Given the description of an element on the screen output the (x, y) to click on. 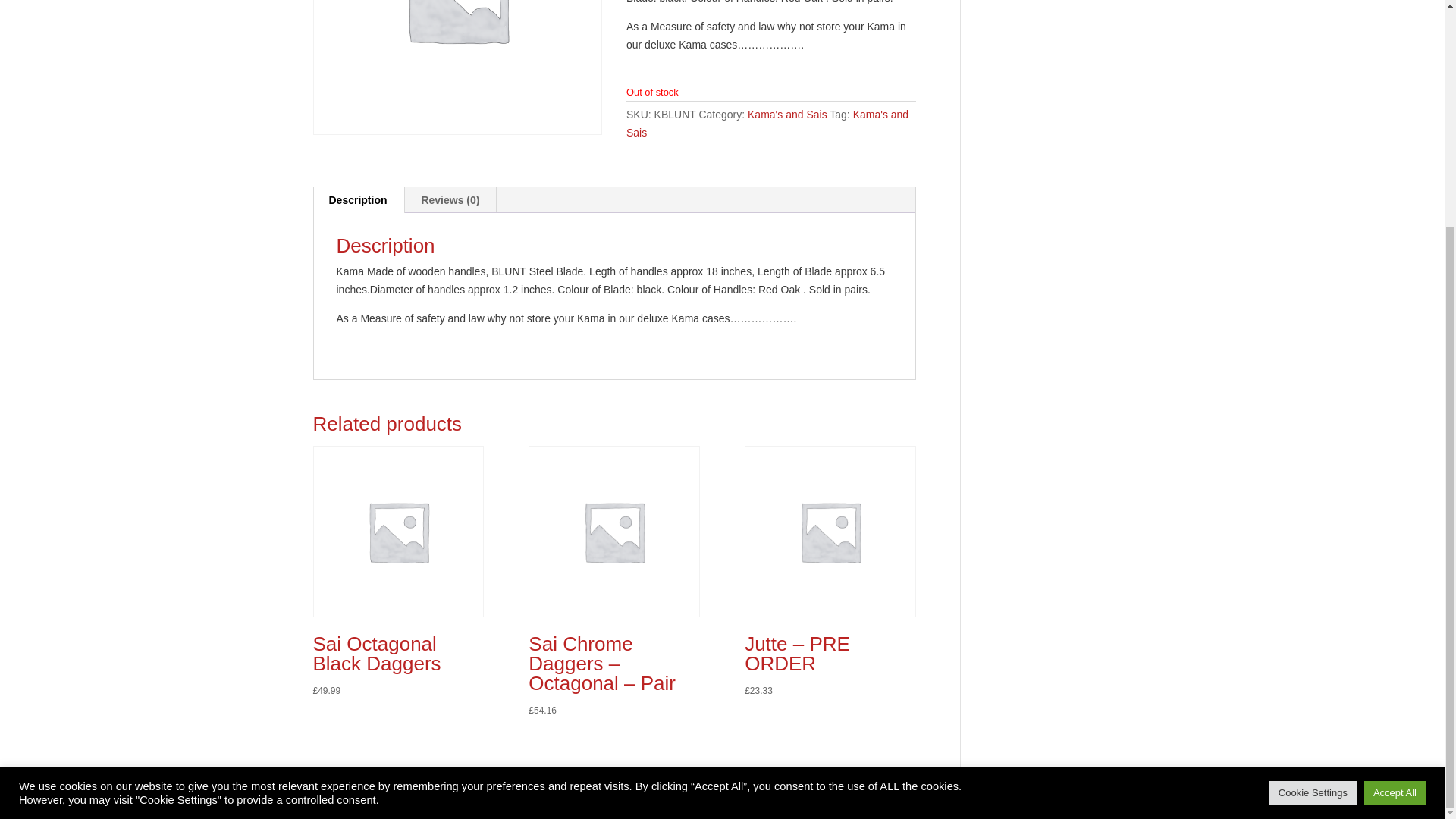
Accept All (1394, 486)
Cookie Settings (1312, 486)
Description (358, 199)
Kama's and Sais (767, 123)
Kama's and Sais (787, 114)
